Given the description of an element on the screen output the (x, y) to click on. 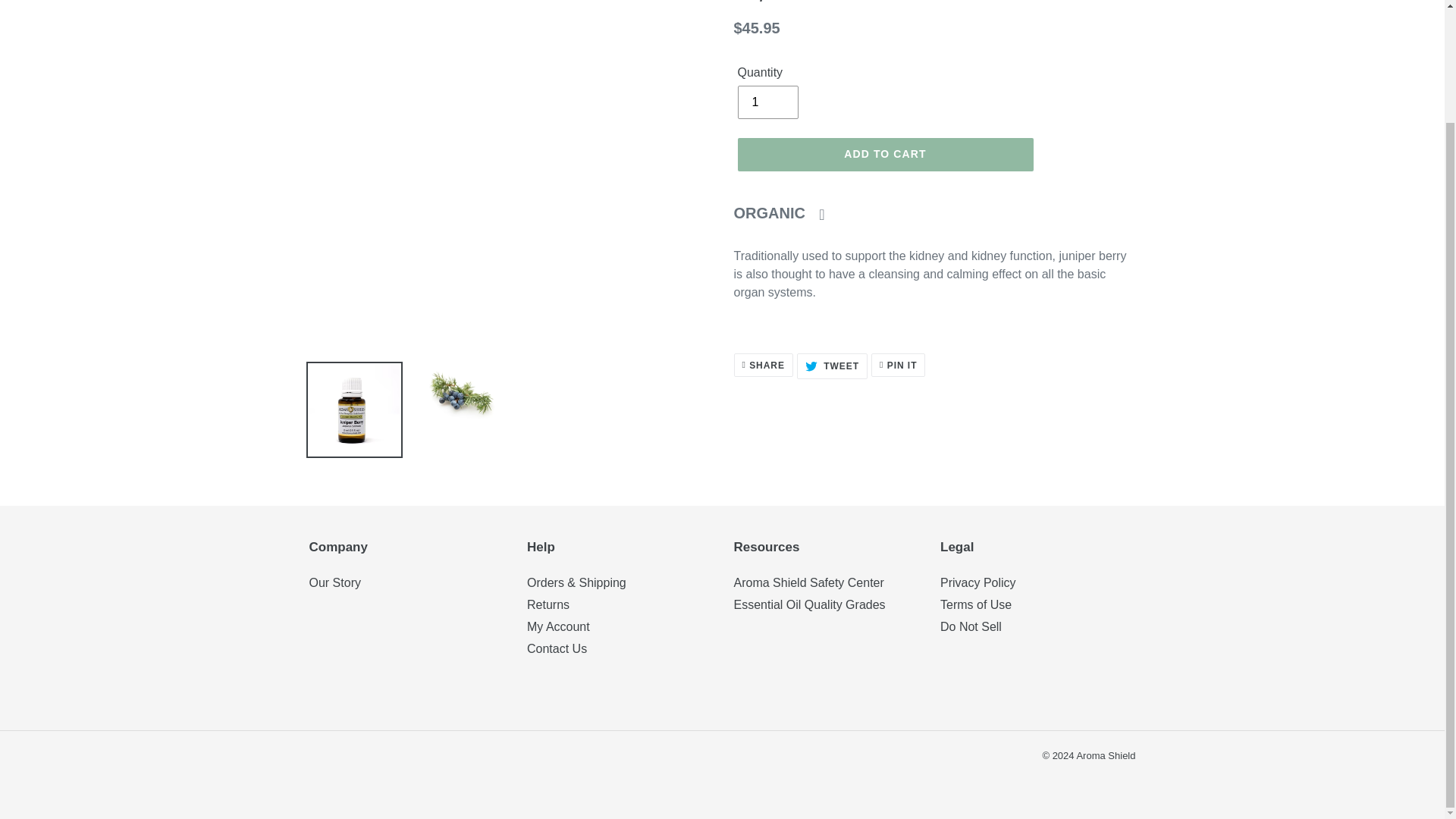
1 (763, 364)
Contact Us (766, 101)
Do Not Sell (556, 648)
Terms of Use (897, 364)
ORGANIC (970, 626)
Our Story (975, 604)
Learn more about quality grades (785, 212)
Essential Oil Quality Grades (334, 582)
Aroma Shield (785, 212)
Returns (809, 604)
Privacy Policy (1105, 755)
My Account (548, 604)
